Given the description of an element on the screen output the (x, y) to click on. 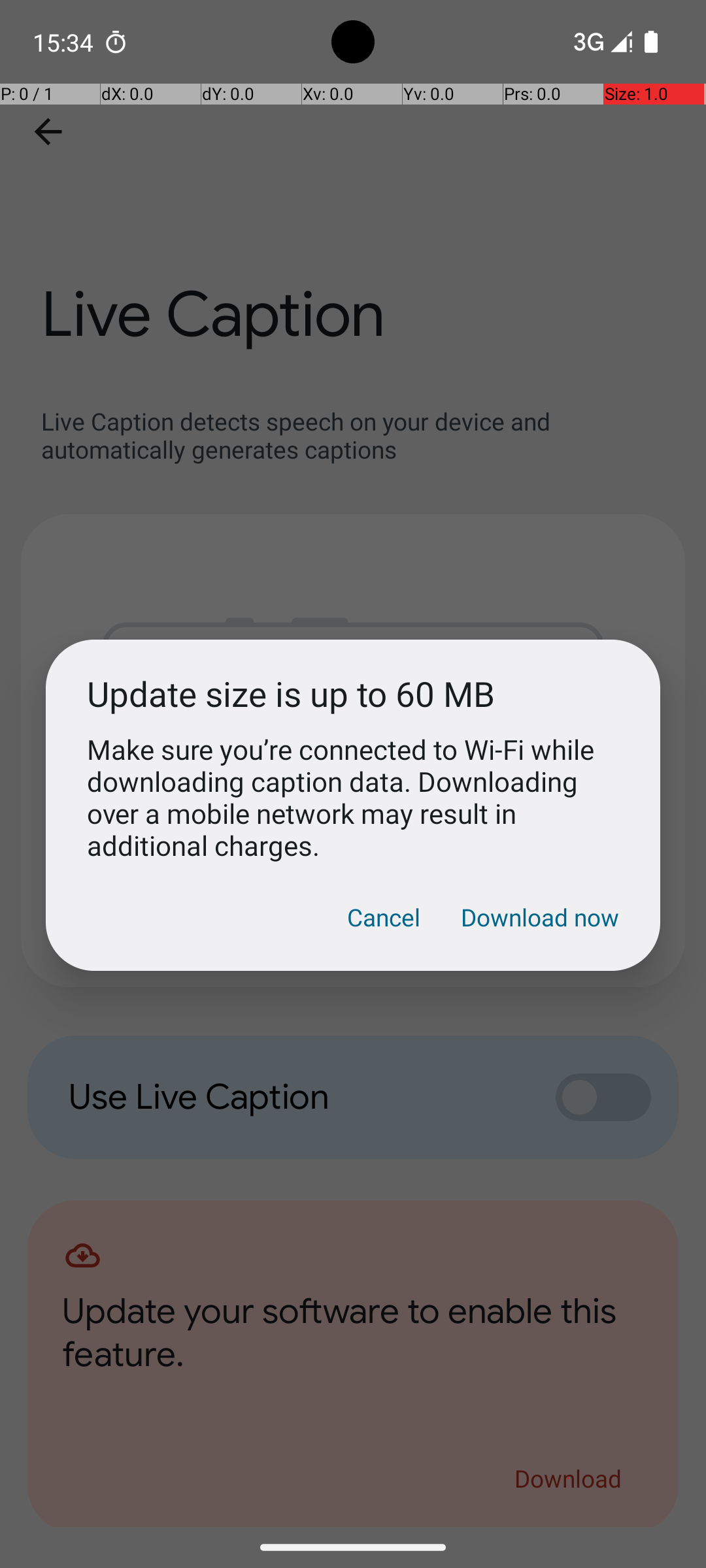
Update size is up to 60 MB Element type: android.widget.TextView (352, 693)
Make sure you’re connected to Wi-Fi while downloading caption data. Downloading over a mobile network may result in additional charges. Element type: android.widget.TextView (352, 796)
Download now Element type: android.widget.Button (539, 916)
